Given the description of an element on the screen output the (x, y) to click on. 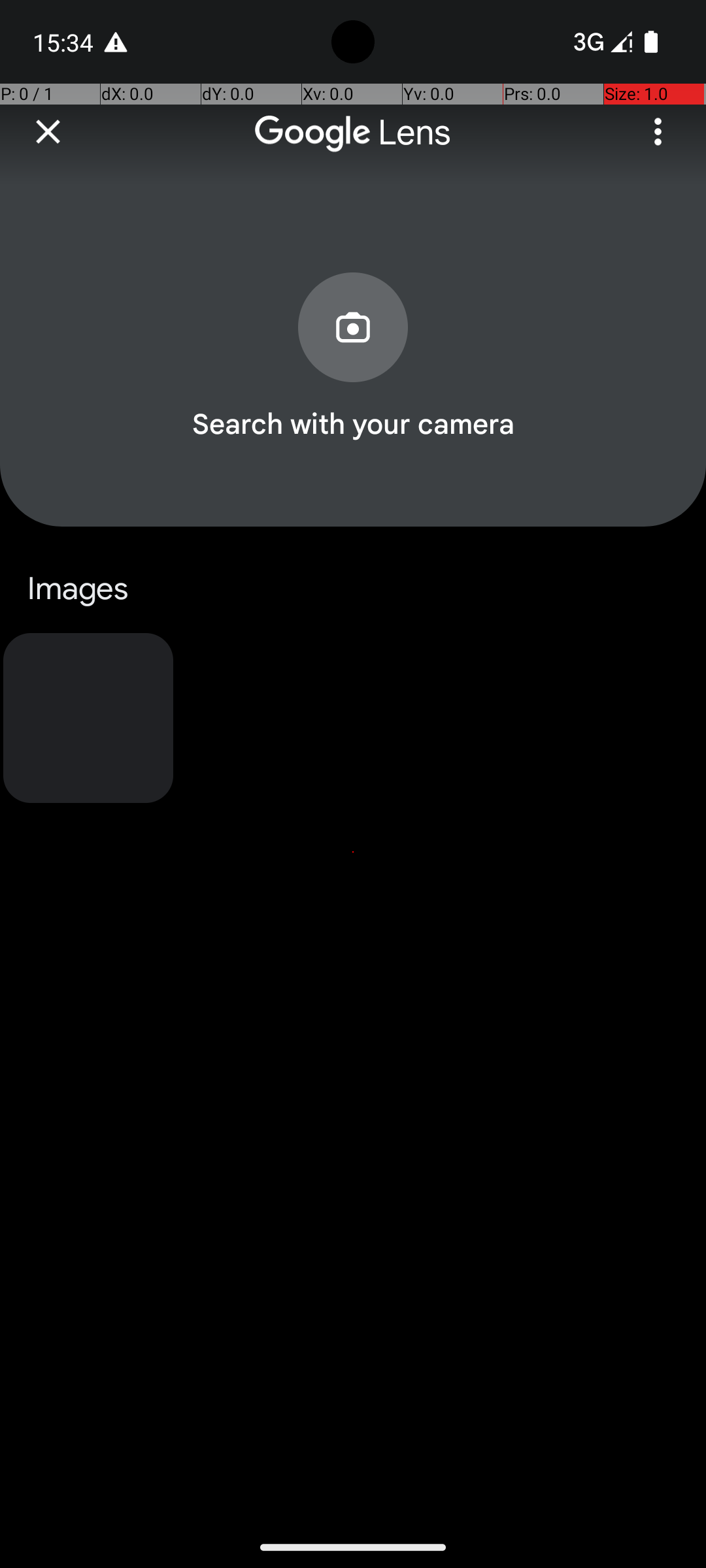
Search with your camera Element type: android.widget.TextView (352, 422)
Close Element type: android.widget.ImageView (47, 131)
More options Element type: android.widget.ImageView (657, 131)
Google Lens Element type: android.view.ViewGroup (352, 132)
Image Element type: android.widget.ImageView (88, 717)
Images Element type: android.widget.TextView (353, 588)
